Given the description of an element on the screen output the (x, y) to click on. 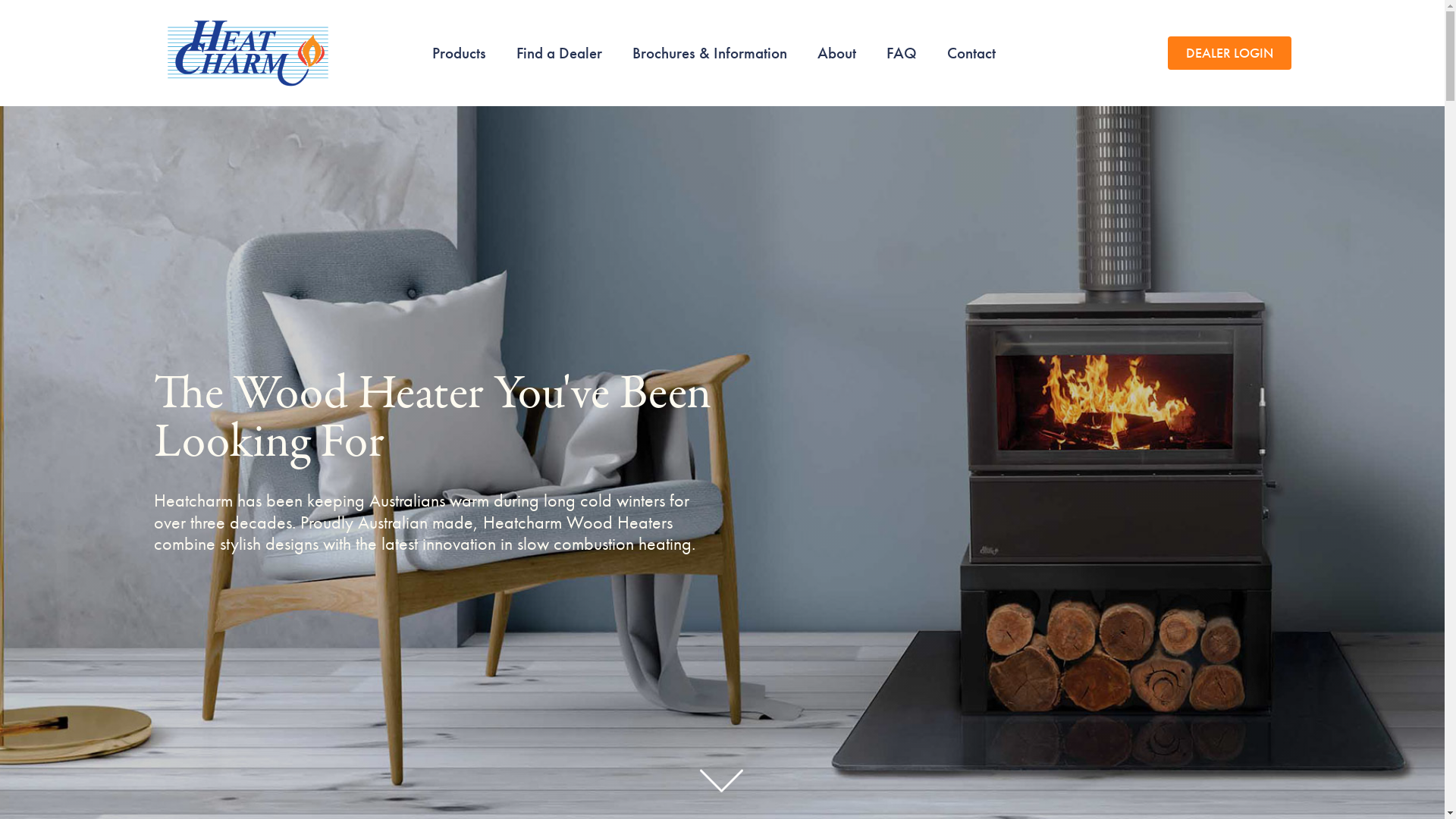
FAQ Element type: text (900, 52)
Products Element type: text (459, 52)
Find a Dealer Element type: text (558, 52)
DEALER LOGIN Element type: text (1229, 52)
Brochures & Information Element type: text (709, 52)
Contact Element type: text (970, 52)
About Element type: text (836, 52)
